Given the description of an element on the screen output the (x, y) to click on. 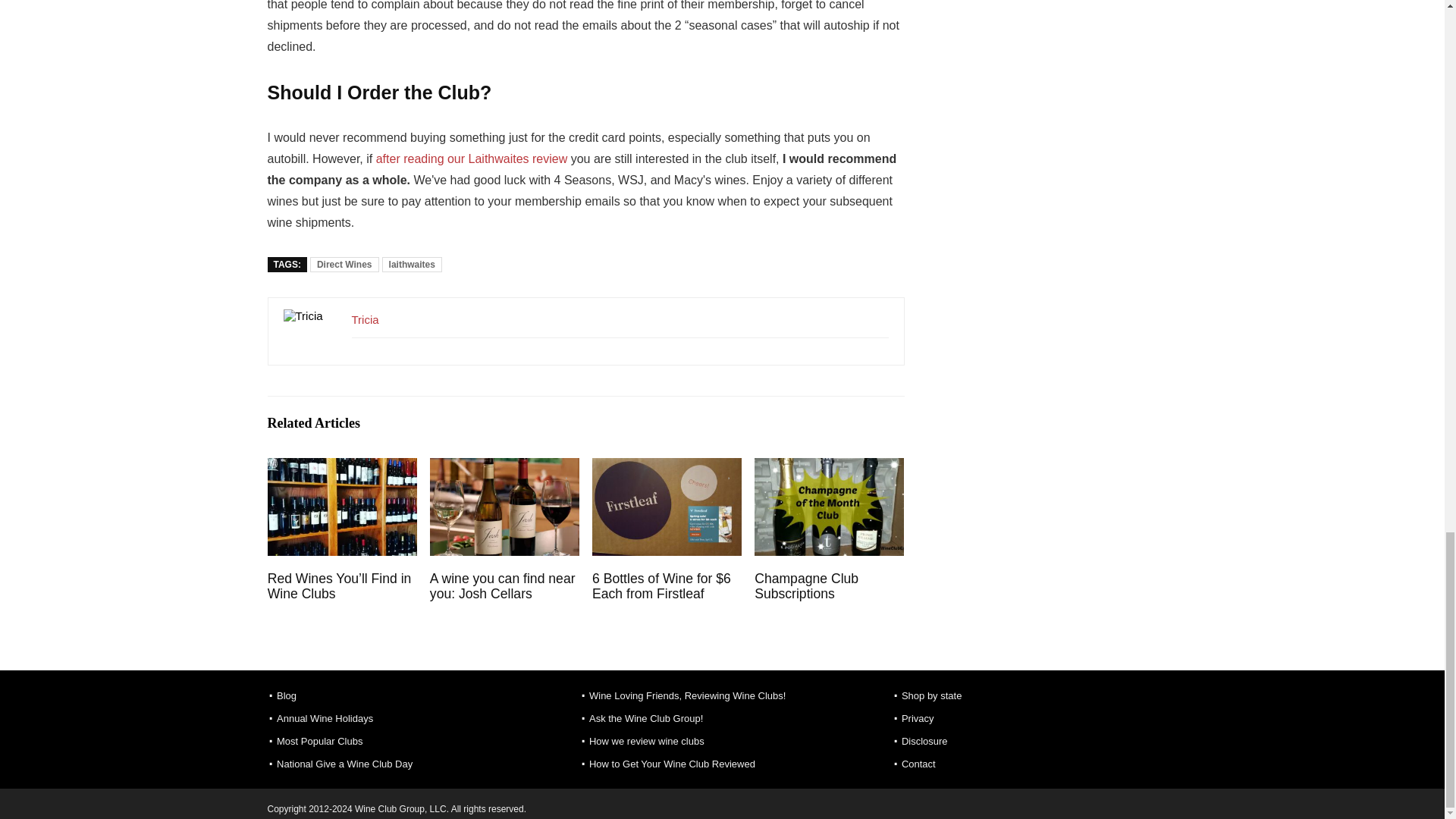
after reading our Laithwaites review (471, 158)
laithwaites (411, 264)
A wine you can find near you: Josh Cellars (502, 585)
Direct Wines (344, 264)
Tricia (365, 318)
